Given the description of an element on the screen output the (x, y) to click on. 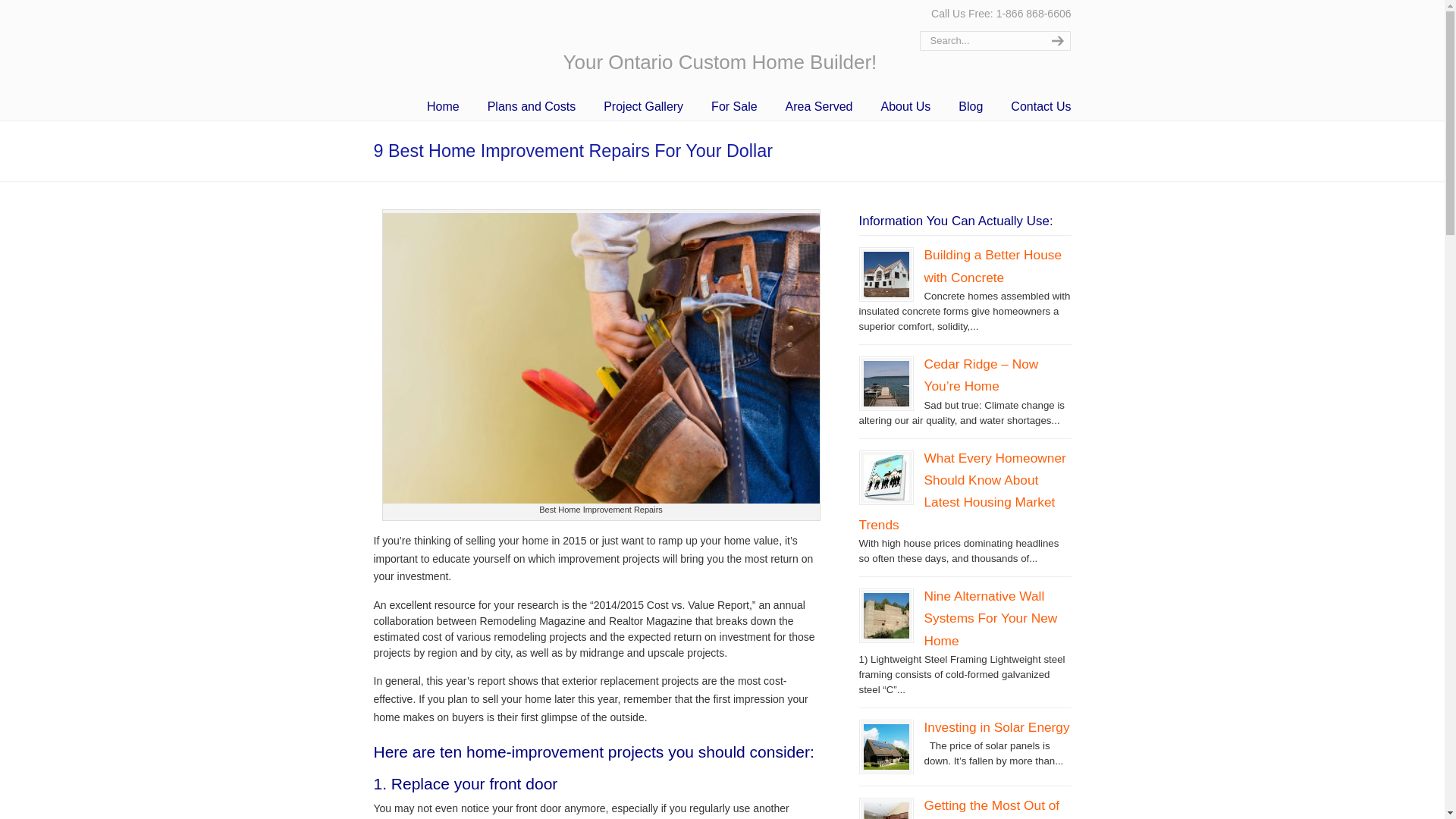
Home (443, 106)
Nine Alternative Wall Systems For Your New Home (990, 618)
Contact Us (1040, 106)
Getting the Most Out of an Open Floor Plan (991, 808)
Building a Better House with Concrete (992, 265)
Ontario Home Builders (451, 49)
Area Served (818, 106)
Project Gallery (643, 106)
About Us (906, 106)
